Given the description of an element on the screen output the (x, y) to click on. 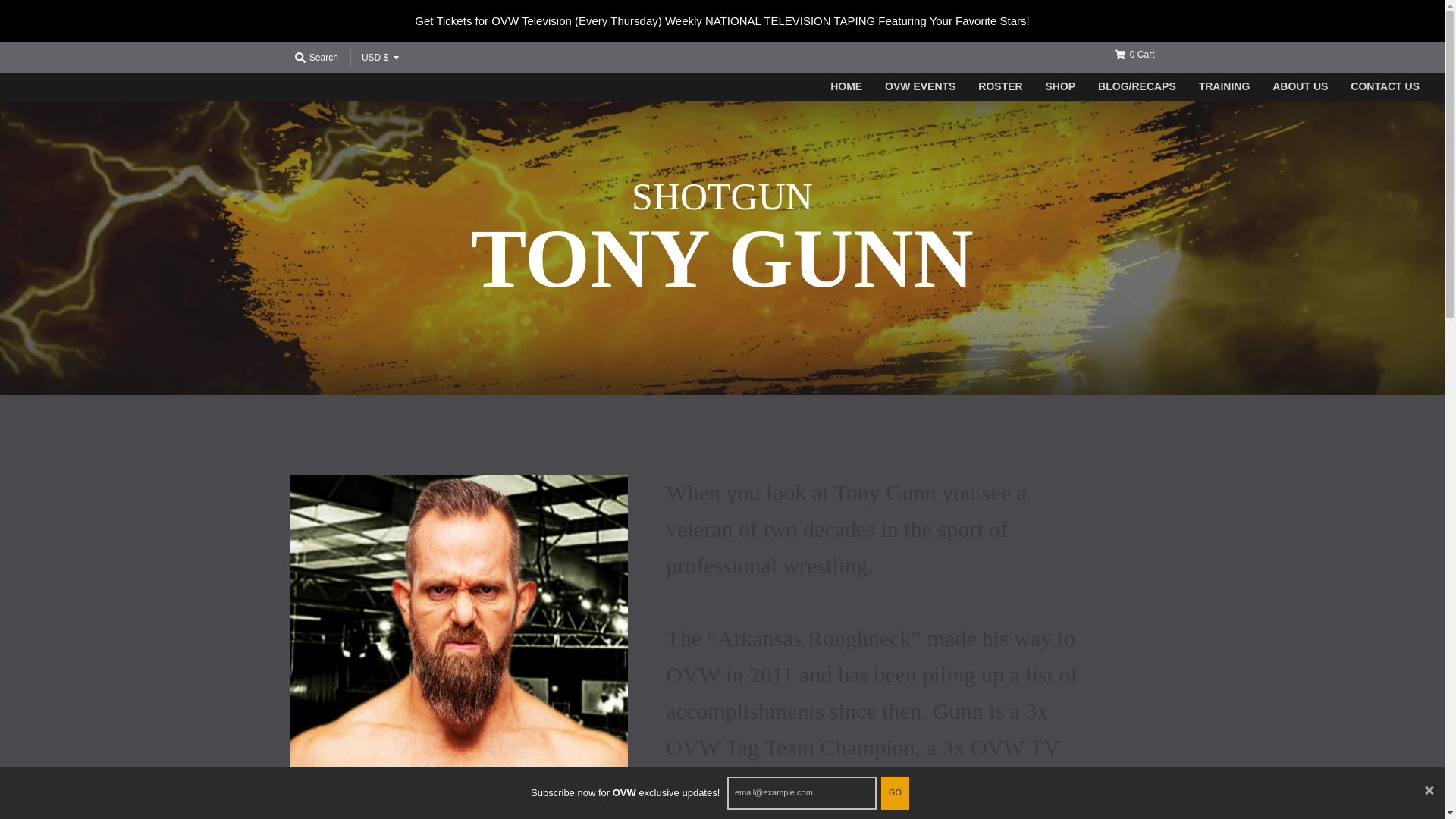
Search (315, 56)
GO (894, 792)
